Given the description of an element on the screen output the (x, y) to click on. 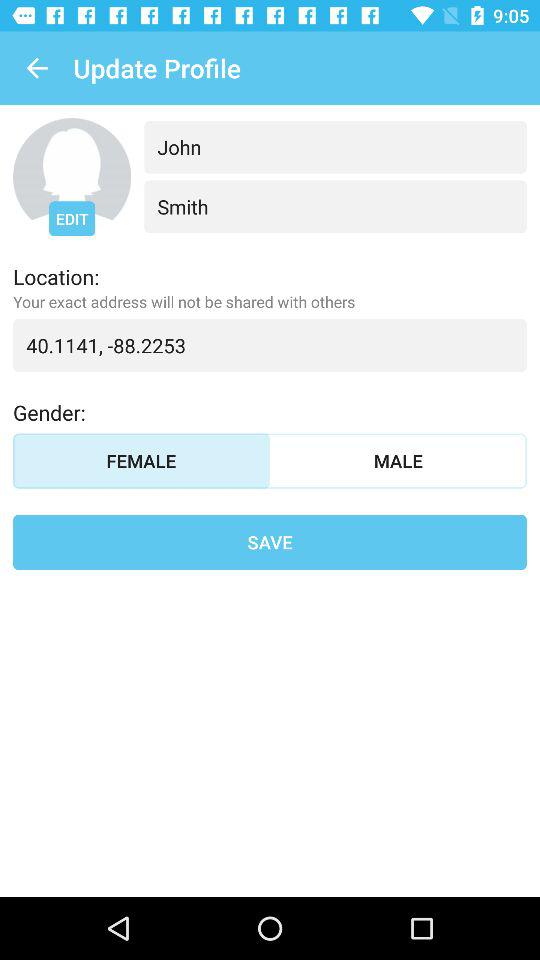
flip until the smith (335, 206)
